Given the description of an element on the screen output the (x, y) to click on. 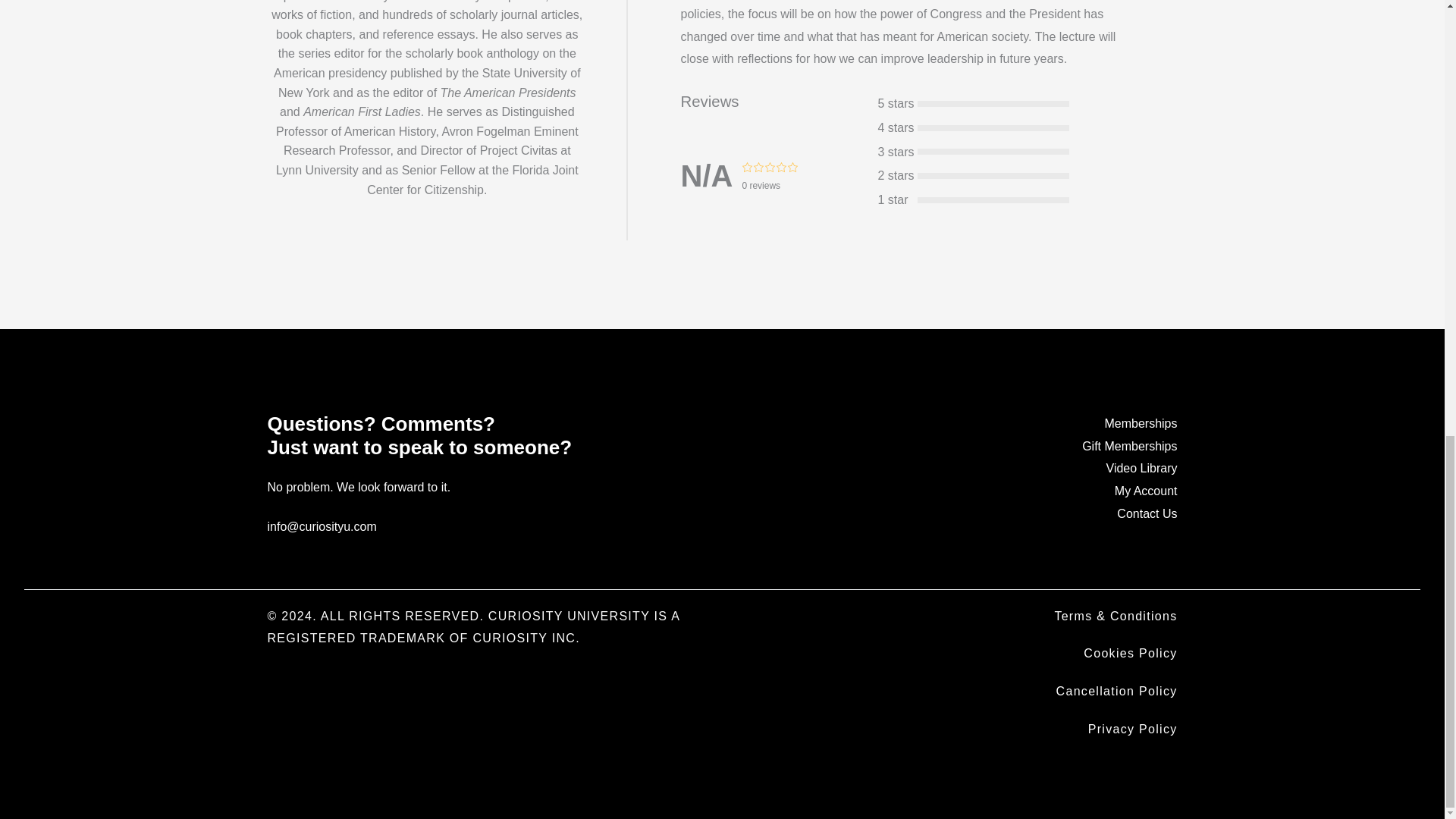
Contact Us (1146, 513)
Gift Memberships (1128, 445)
Memberships (1139, 422)
Video Library (1141, 468)
My Account (1146, 490)
